Given the description of an element on the screen output the (x, y) to click on. 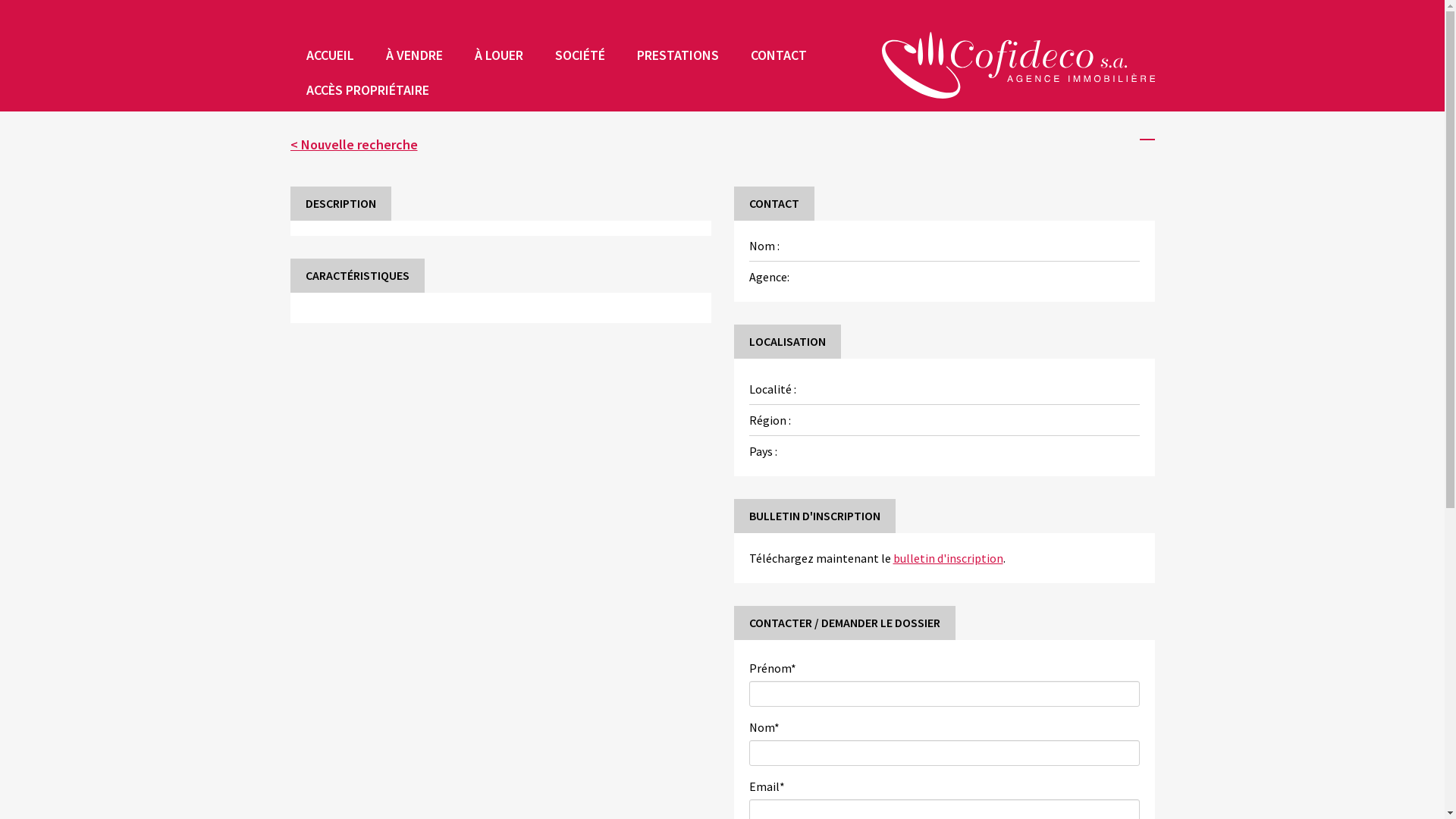
CONTACT Element type: text (778, 54)
PRESTATIONS Element type: text (677, 54)
bulletin d'inscription Element type: text (948, 557)
ACCUEIL Element type: text (329, 54)
< Nouvelle recherche Element type: text (353, 144)
